Given the description of an element on the screen output the (x, y) to click on. 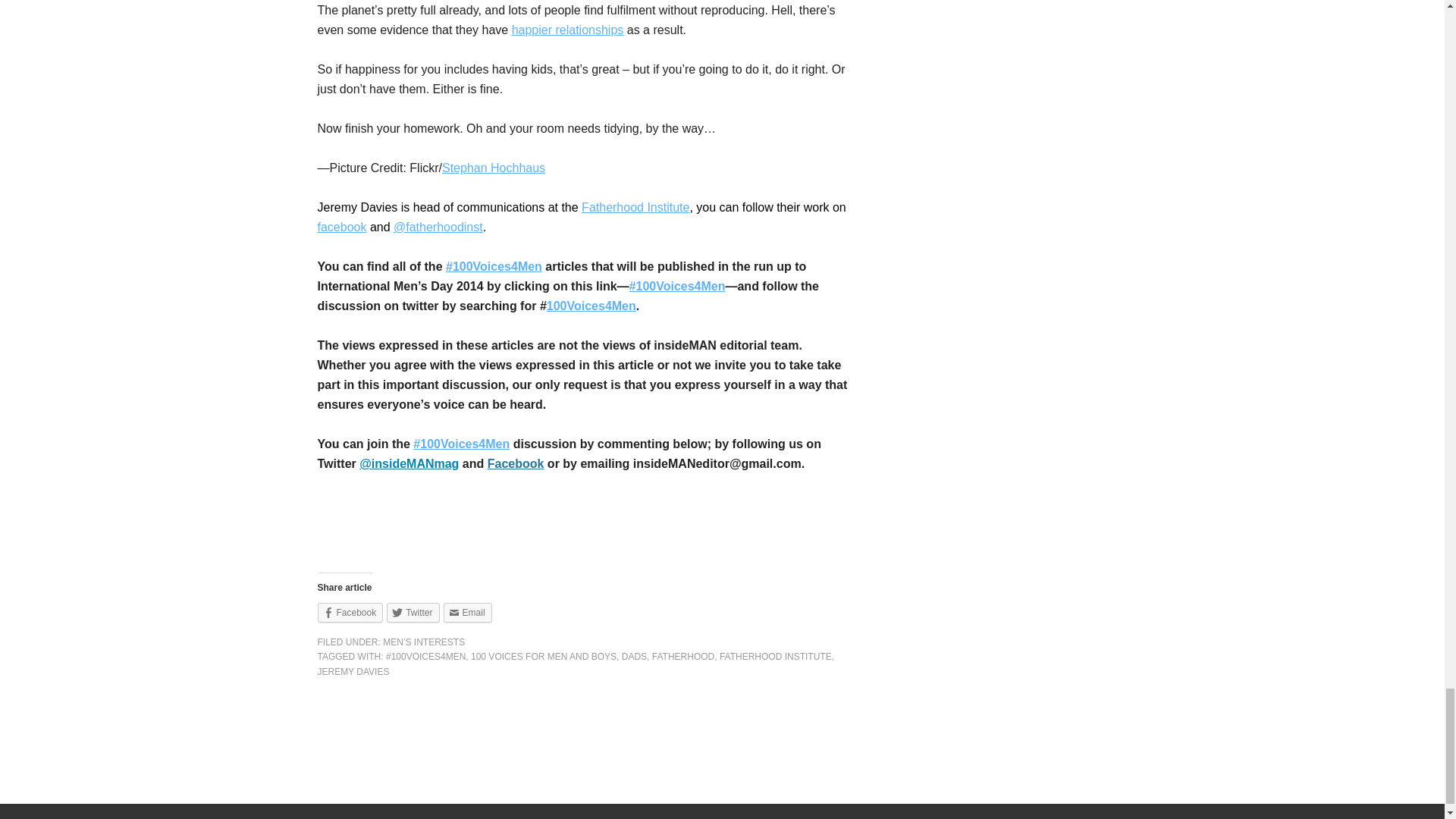
Click to share on Facebook (349, 612)
Stephan Hochhaus (493, 167)
happier relationships (568, 29)
Click to share on Twitter (413, 612)
Fatherhood Institute (634, 206)
Click to email this to a friend (468, 612)
